Given the description of an element on the screen output the (x, y) to click on. 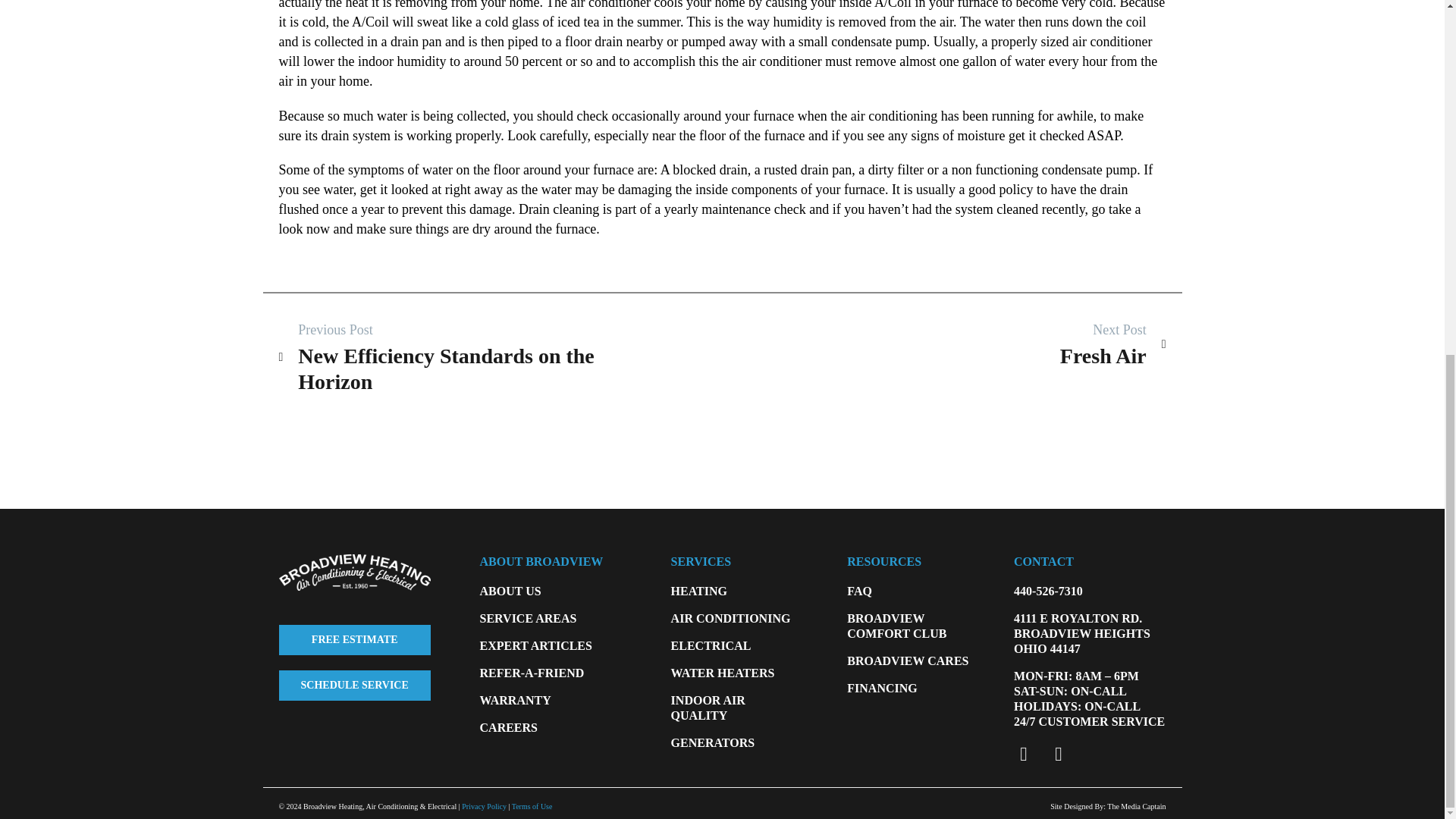
Broadview-Heating-Reverse-Logo (354, 572)
Contact Us (354, 639)
Services (354, 685)
